Given the description of an element on the screen output the (x, y) to click on. 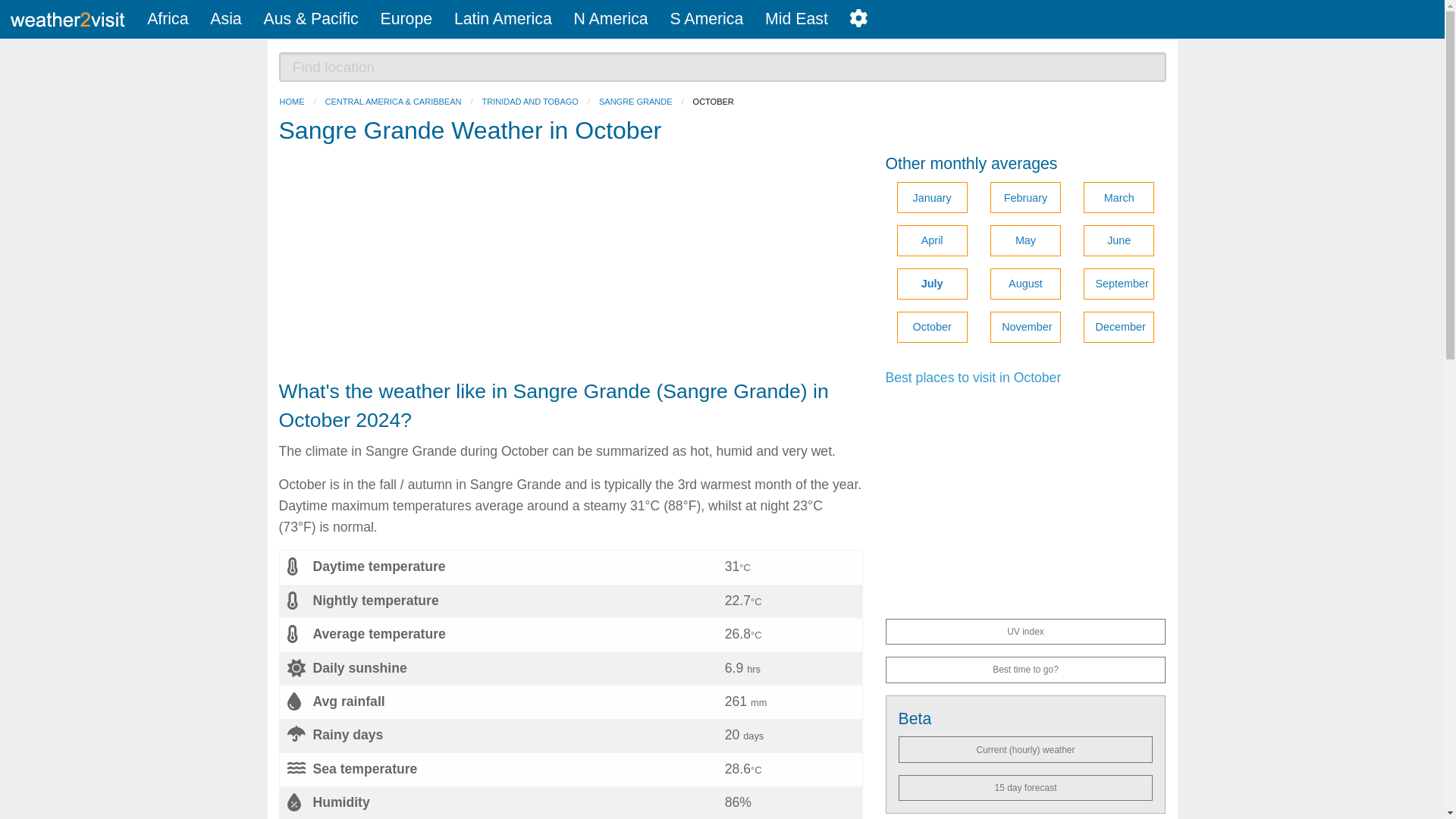
HOME (291, 101)
15 day forecast (1025, 787)
Best places to visit in October (973, 377)
Europe (405, 19)
March (1118, 196)
Latin America (502, 19)
Mid East (797, 19)
December (1118, 327)
May (1025, 240)
TRINIDAD AND TOBAGO (529, 101)
February (1025, 196)
Advertisement (571, 264)
S America (706, 19)
N America (610, 19)
Asia (225, 19)
